Given the description of an element on the screen output the (x, y) to click on. 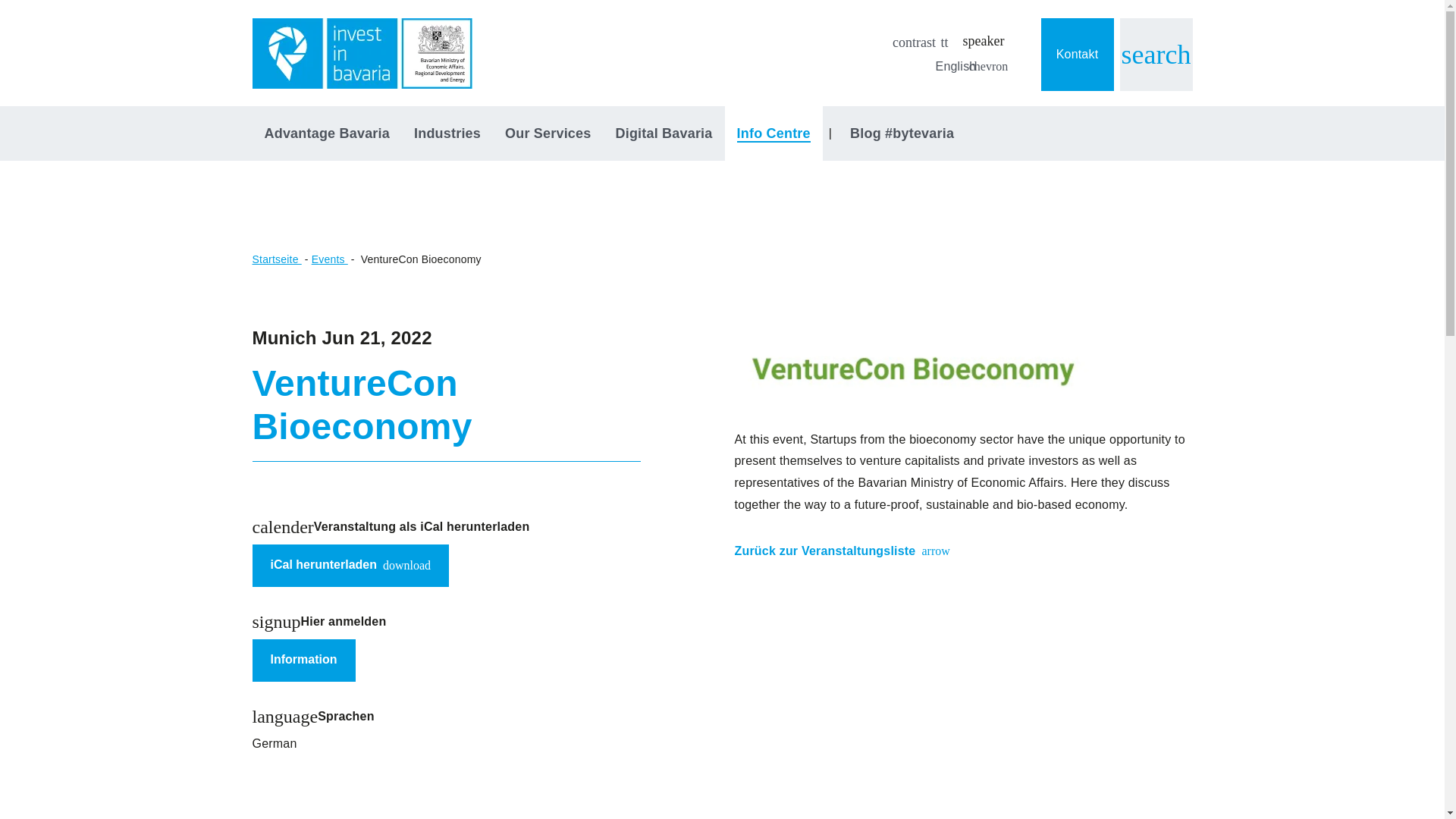
search (1155, 54)
tt (944, 42)
Info Centre (773, 133)
contrast (914, 42)
Kontakt (1077, 54)
Events (329, 259)
Information (303, 660)
Startseite (276, 259)
Our Services (547, 133)
Information (302, 660)
Advantage Bavaria (326, 133)
Industries (349, 565)
Digital Bavaria (447, 133)
chevron (662, 133)
